Given the description of an element on the screen output the (x, y) to click on. 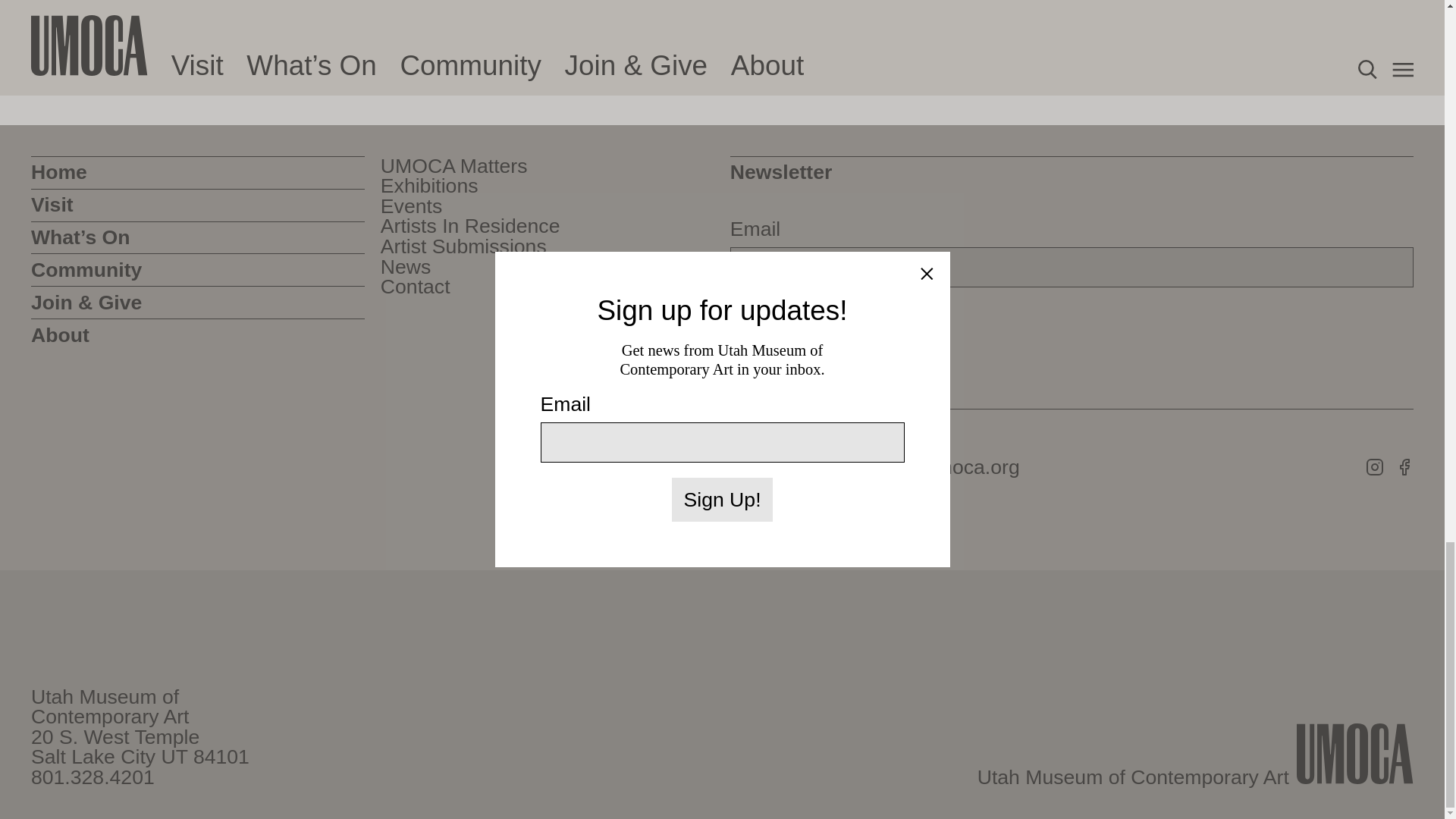
About (197, 334)
Events (411, 206)
Contact (414, 286)
Exhibitions (429, 186)
Visit (197, 205)
Subscribe (786, 324)
UMOCA Matters (453, 166)
Subscribe (786, 324)
News (405, 267)
Artist Submissions (463, 246)
